Given the description of an element on the screen output the (x, y) to click on. 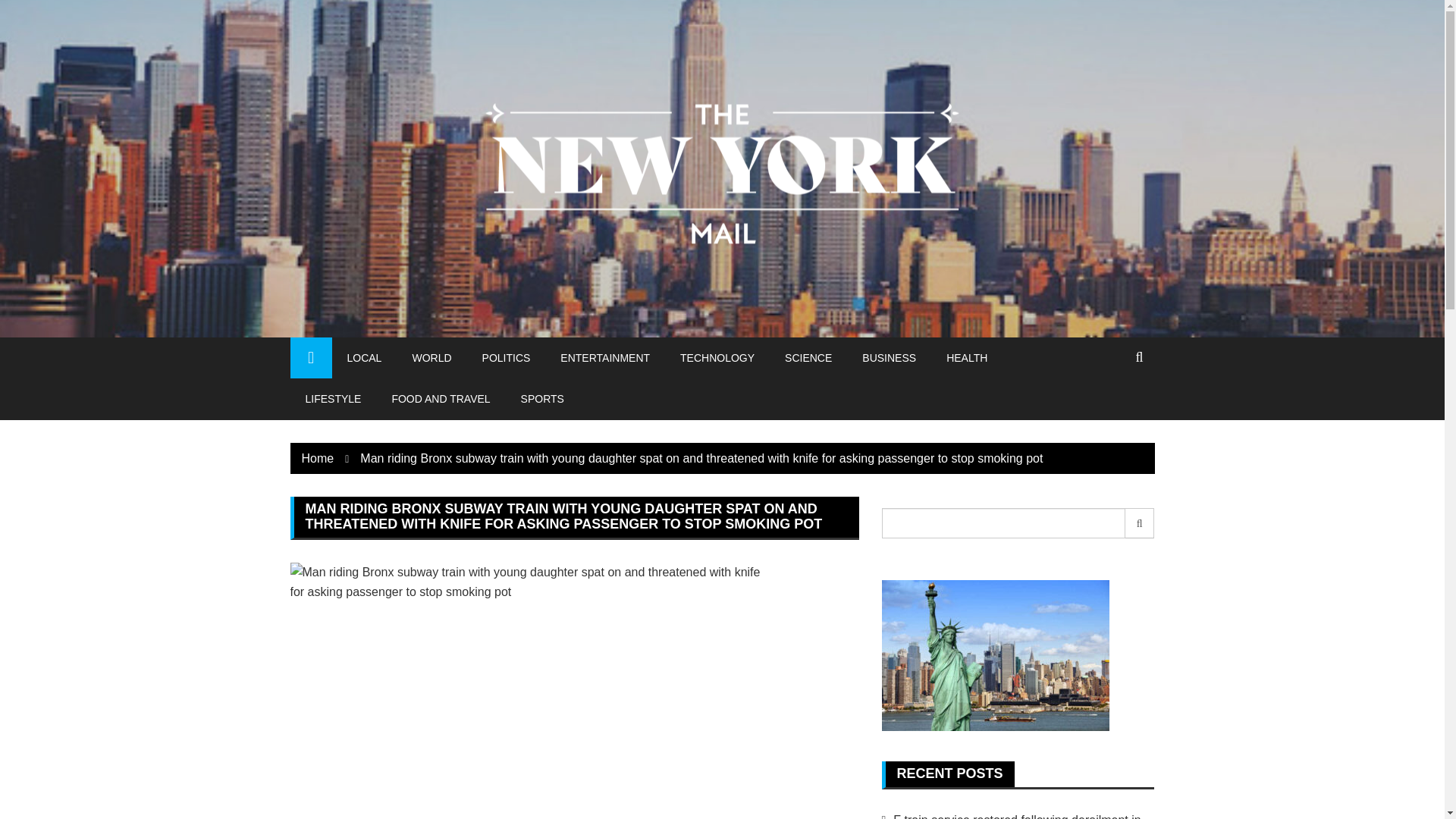
POLITICS (506, 357)
FOOD AND TRAVEL (440, 398)
LIFESTYLE (332, 398)
WORLD (430, 357)
LOCAL (364, 357)
SPORTS (542, 398)
ENTERTAINMENT (604, 357)
SCIENCE (808, 357)
HEALTH (967, 357)
BUSINESS (889, 357)
TECHNOLOGY (717, 357)
Search (1139, 522)
Home (317, 458)
